Given the description of an element on the screen output the (x, y) to click on. 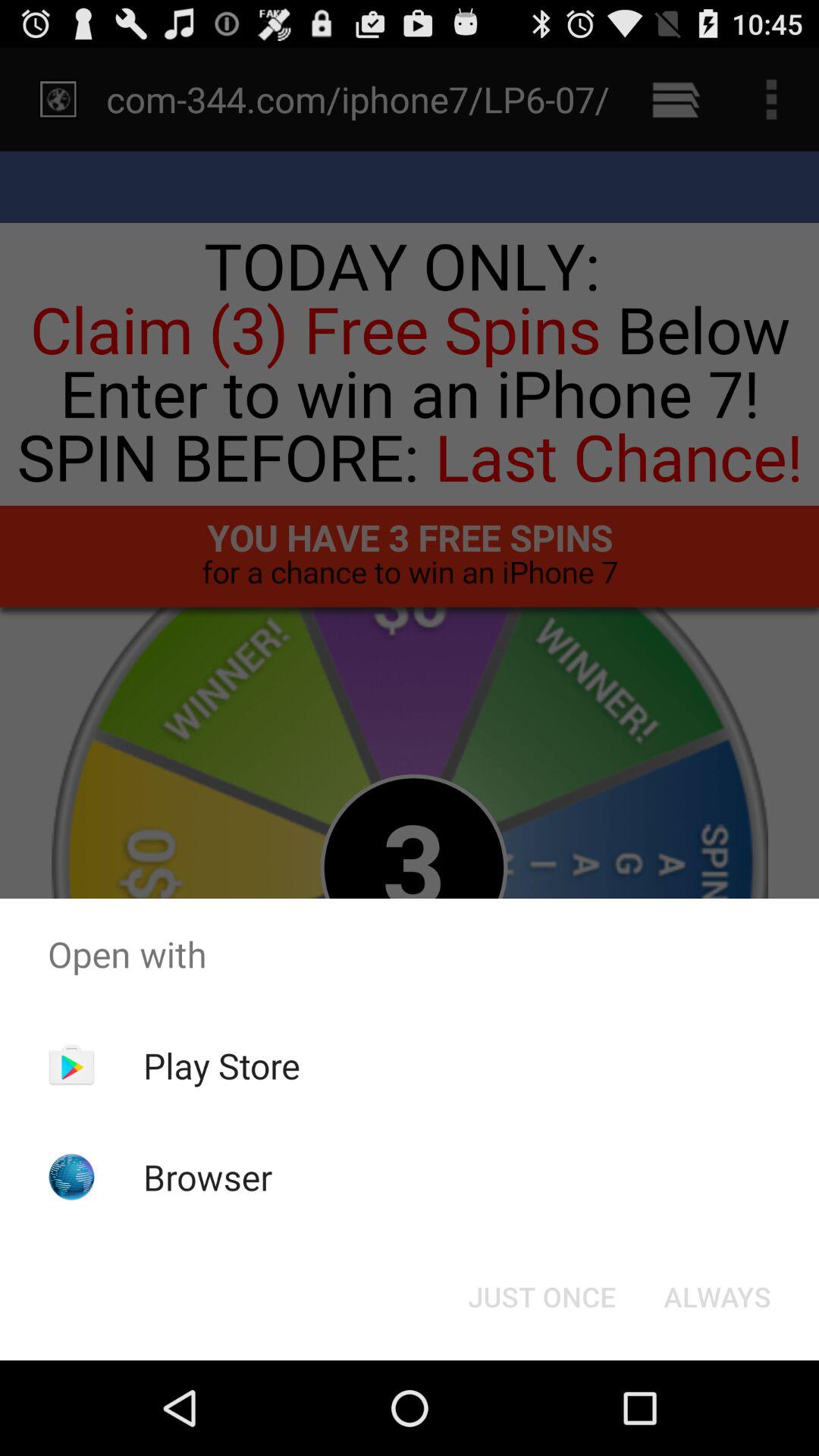
flip to the always item (717, 1296)
